Given the description of an element on the screen output the (x, y) to click on. 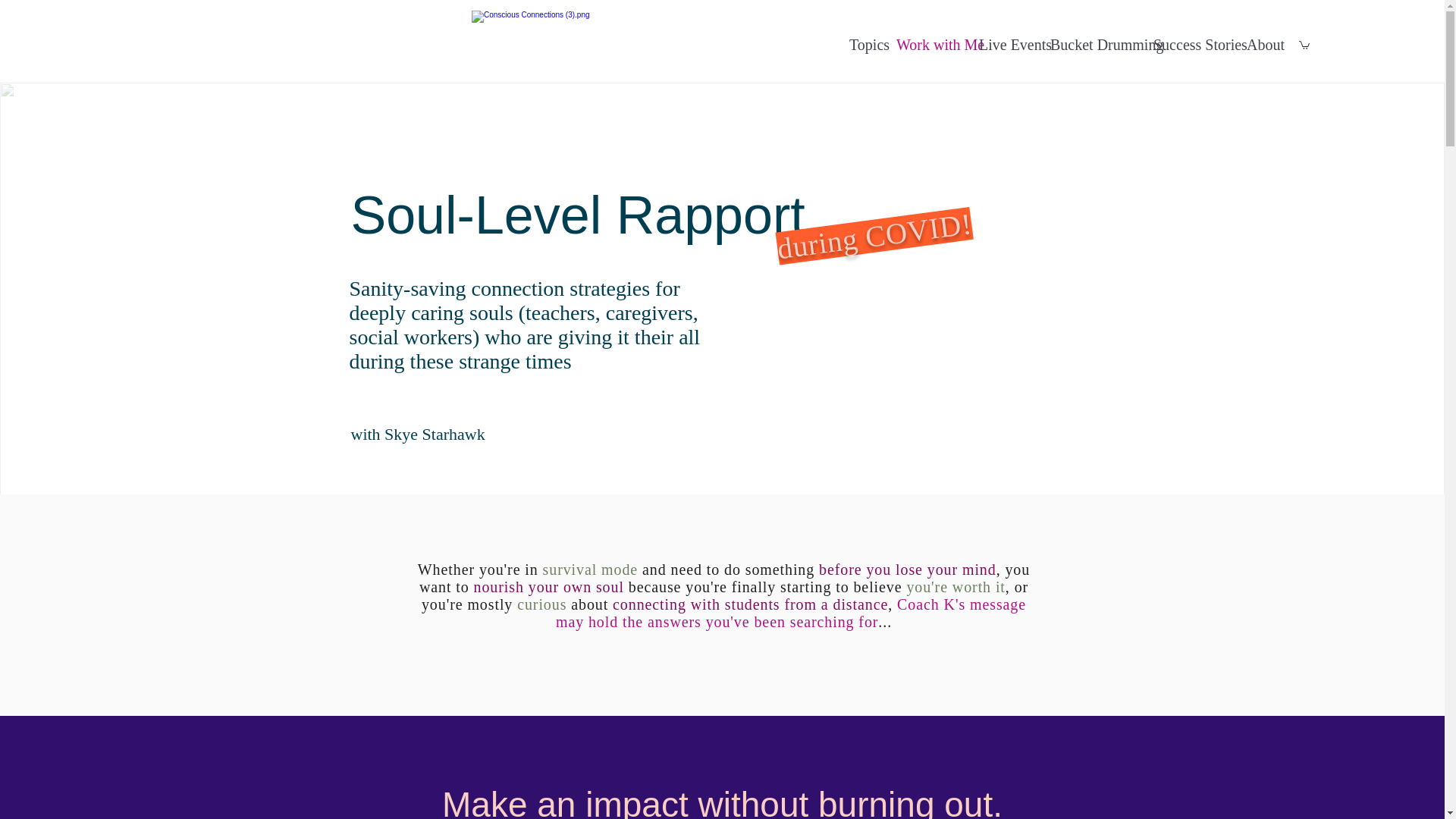
Success Stories (1192, 44)
Live Events (1006, 44)
About (1261, 44)
Bucket Drumming (1093, 44)
Topics (864, 44)
Work with Me (929, 44)
